Given the description of an element on the screen output the (x, y) to click on. 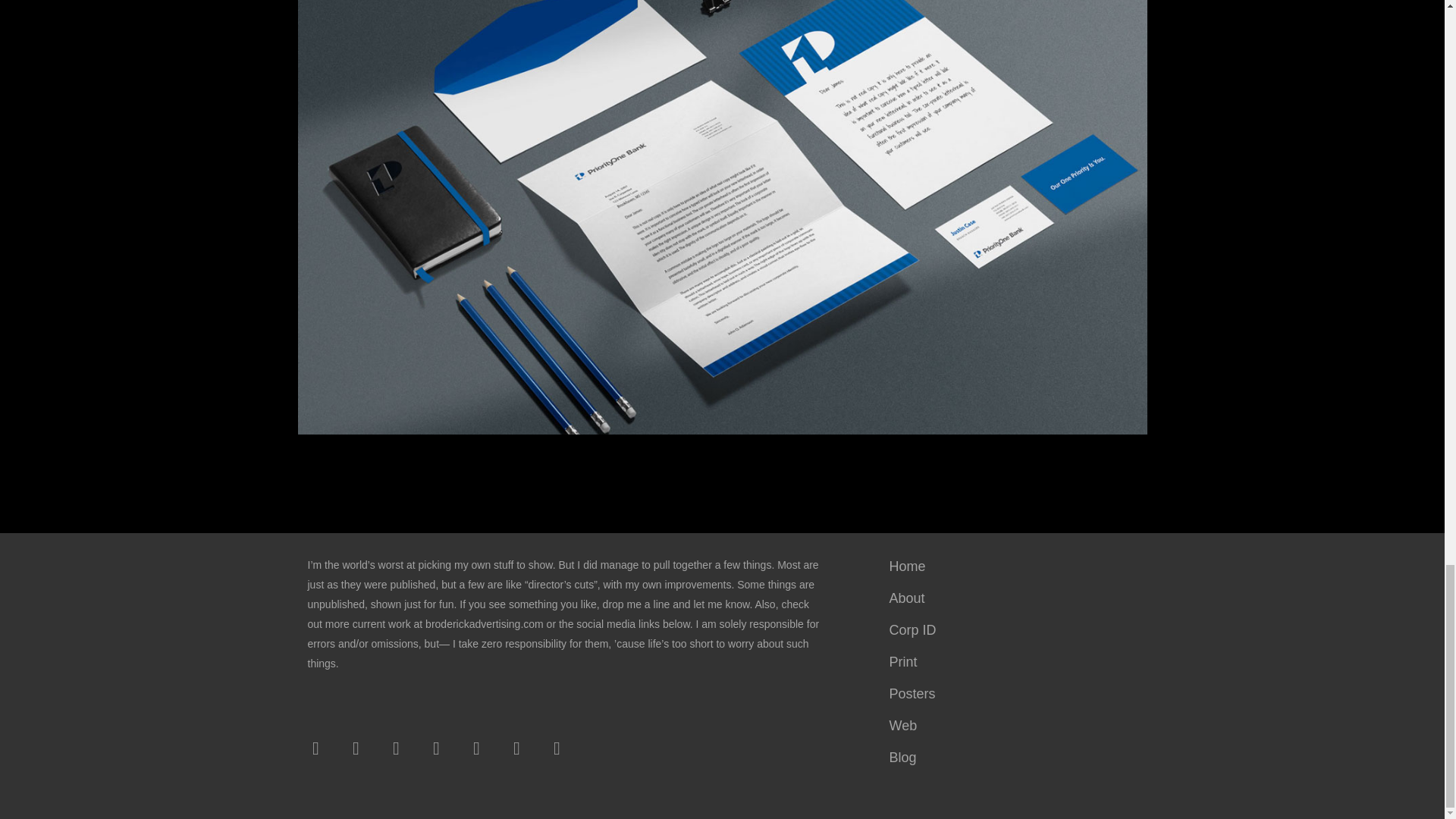
Posters (1010, 694)
Print (1010, 662)
Behance (476, 748)
Blog (1010, 757)
Corp ID (1010, 630)
Twitter (355, 748)
Home (1010, 566)
Facebook (315, 748)
Dribbble (517, 748)
Web (1010, 726)
About (1010, 598)
Linkedin-in (436, 748)
Instagram (395, 748)
Facebook-messenger (556, 748)
